Given the description of an element on the screen output the (x, y) to click on. 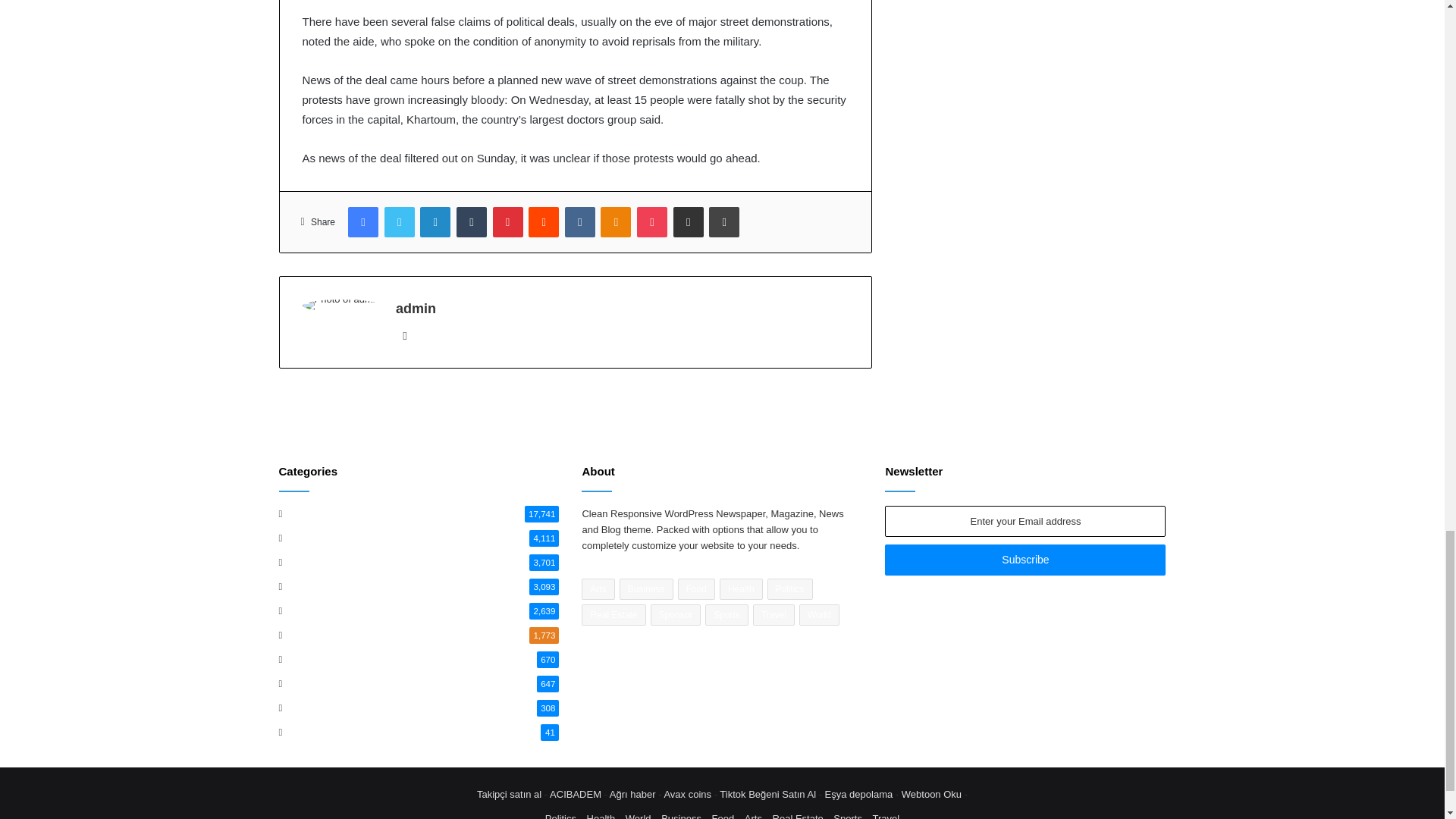
Subscribe (1025, 559)
